Given the description of an element on the screen output the (x, y) to click on. 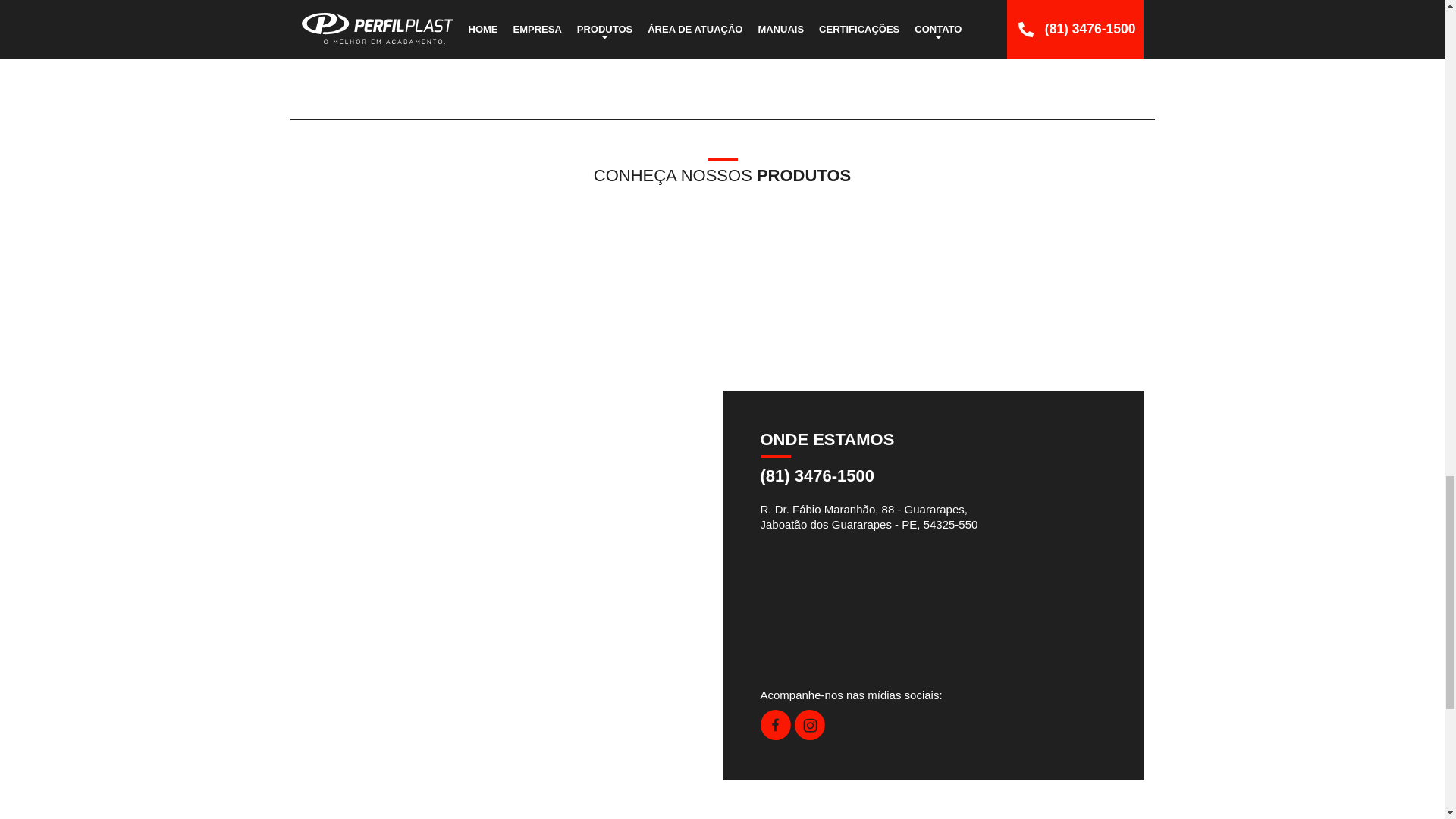
Facebook (775, 735)
Instagram (809, 735)
